Given the description of an element on the screen output the (x, y) to click on. 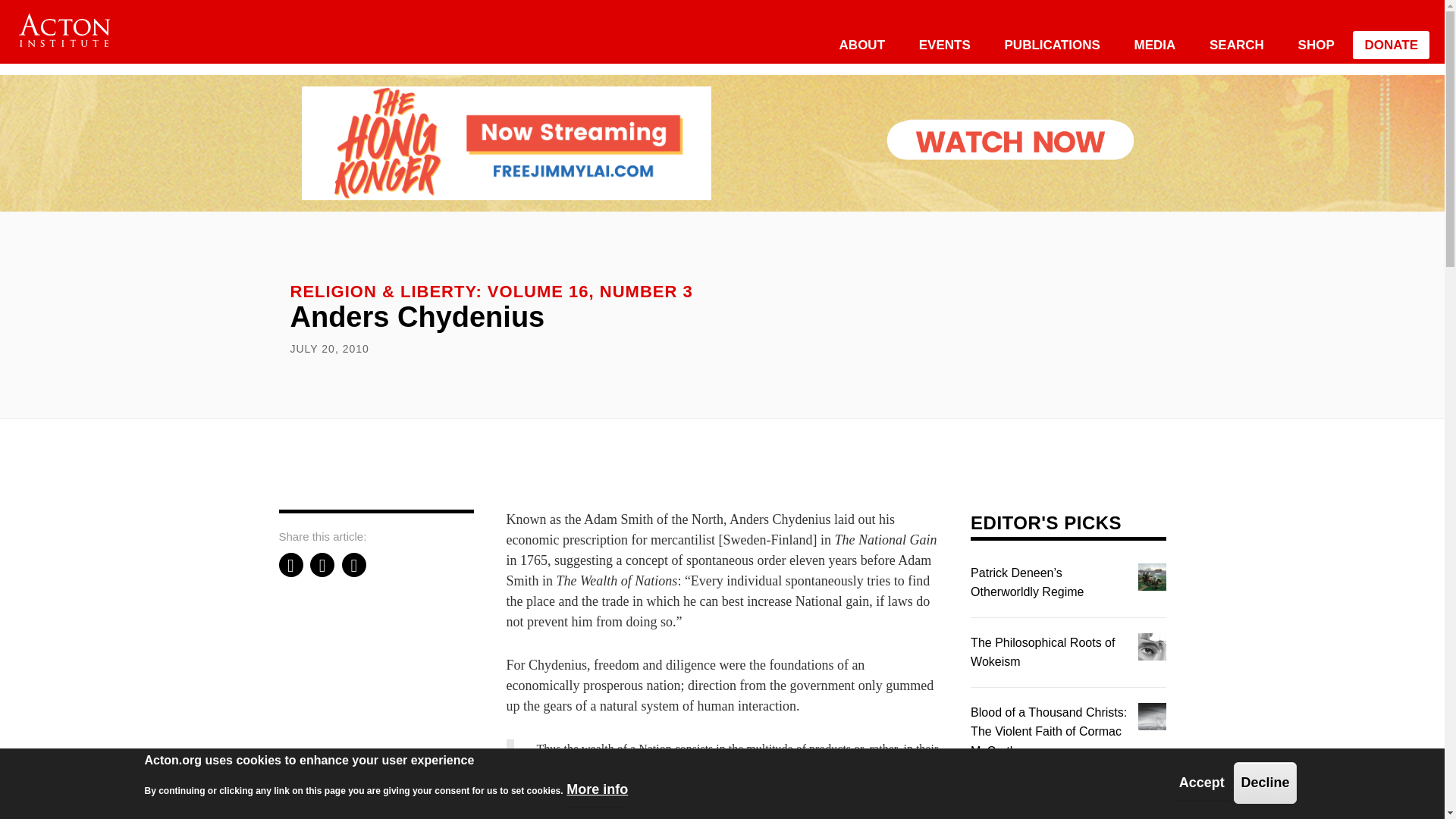
EVENTS (944, 44)
Events (944, 44)
PUBLICATIONS (1052, 44)
Publications (1052, 44)
About (861, 44)
MEDIA (1155, 44)
ABOUT (861, 44)
